Given the description of an element on the screen output the (x, y) to click on. 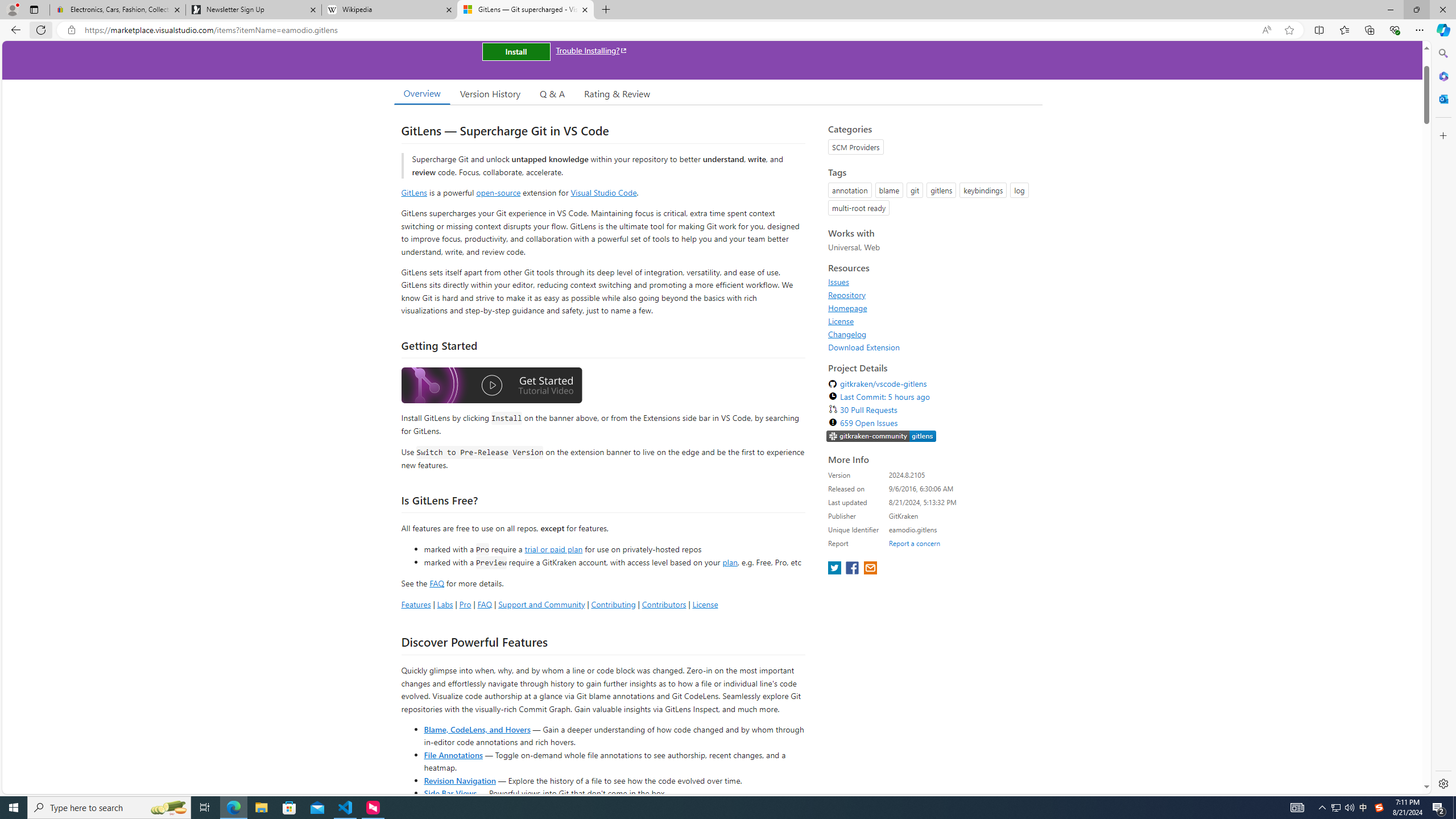
Contributing (613, 603)
Repository (931, 294)
Contributors (663, 603)
Repository (847, 294)
Install (515, 51)
share extension on twitter (835, 568)
Revision Navigation (459, 780)
Rating & Review (618, 92)
Issues (838, 281)
Issues (931, 281)
